Given the description of an element on the screen output the (x, y) to click on. 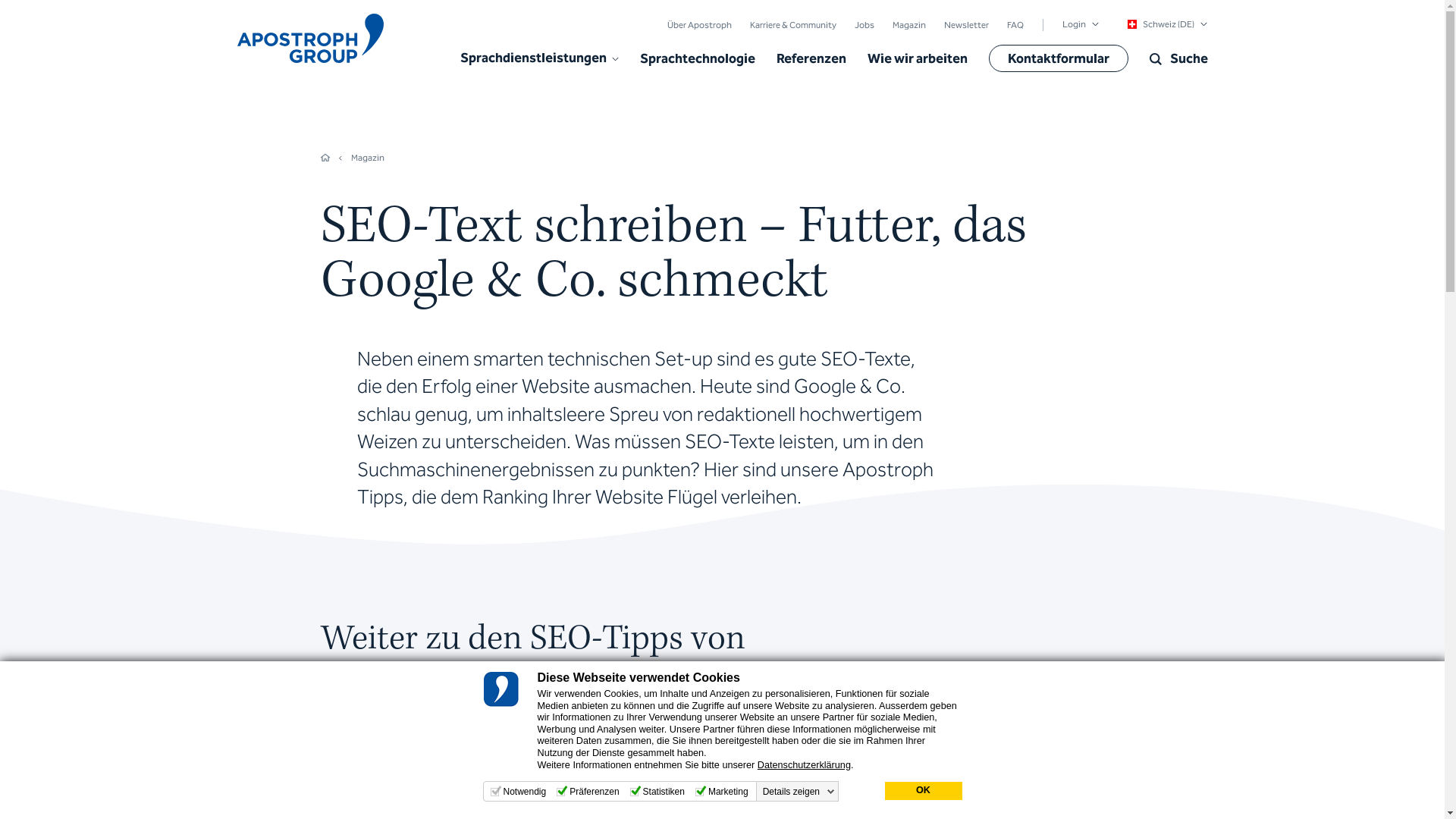
Sprachtechnologie Element type: text (697, 59)
Newsletter Element type: text (965, 24)
Jobs Element type: text (863, 24)
Wie wir arbeiten Element type: text (917, 59)
Suche Element type: text (1178, 59)
Karriere & Community Element type: text (792, 24)
Magazin Element type: text (908, 24)
FAQ Element type: text (1015, 24)
Referenzen Element type: text (811, 59)
OK Element type: text (922, 790)
Magazin Element type: text (366, 157)
Kontaktformular Element type: text (1058, 58)
Details zeigen Element type: text (798, 791)
